Given the description of an element on the screen output the (x, y) to click on. 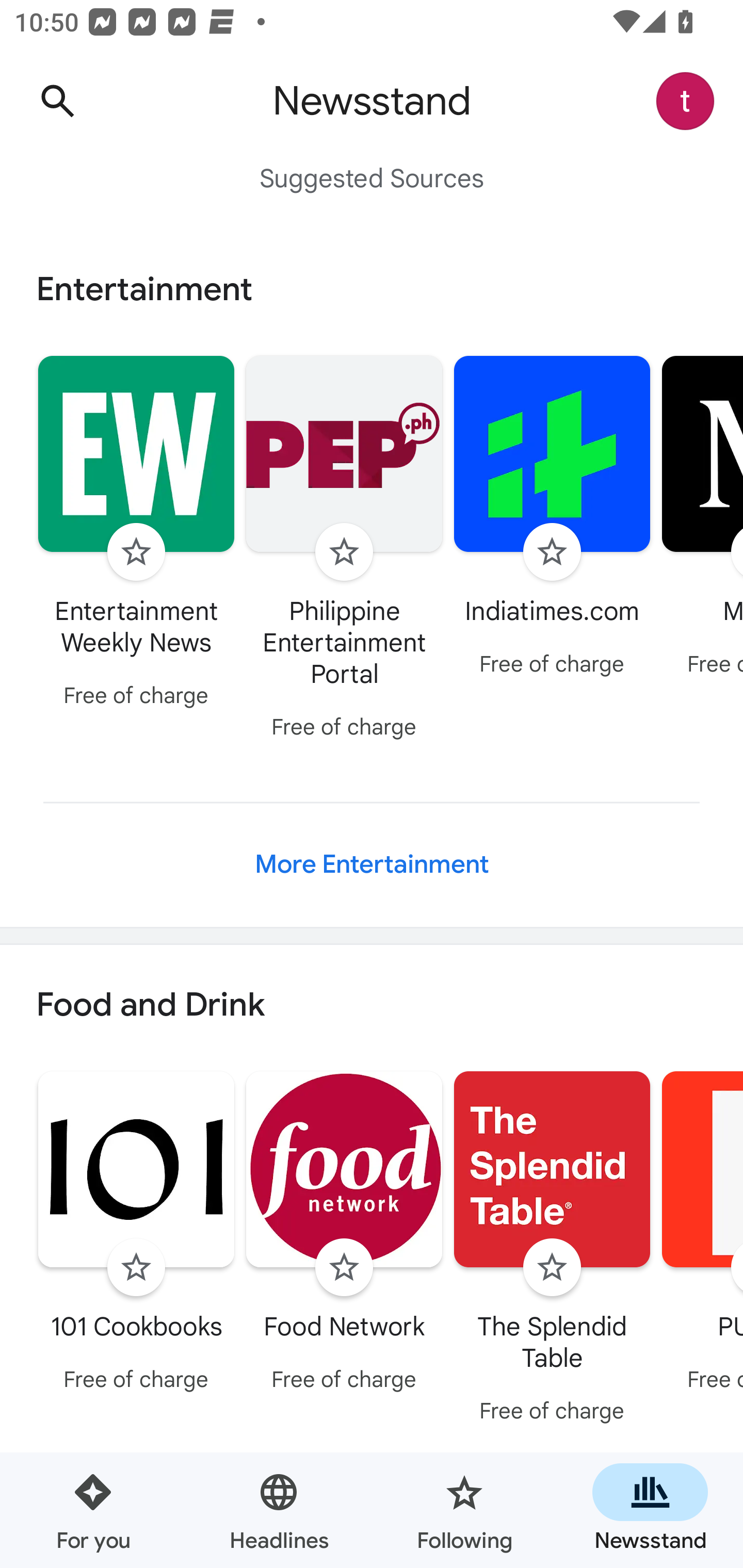
Search (57, 100)
Entertainment (371, 288)
Follow Entertainment Weekly News Free of charge (136, 534)
Follow Indiatimes.com Free of charge (552, 517)
Follow (135, 551)
Follow (343, 551)
Follow (552, 551)
More Entertainment (371, 864)
Food and Drink (371, 1005)
Follow 101 Cookbooks Free of charge (136, 1234)
Follow Food Network Free of charge (344, 1234)
Follow The Splendid Table Free of charge (552, 1250)
Follow (135, 1267)
Follow (343, 1267)
Follow (552, 1267)
For you (92, 1509)
Headlines (278, 1509)
Following (464, 1509)
Newsstand (650, 1509)
